Given the description of an element on the screen output the (x, y) to click on. 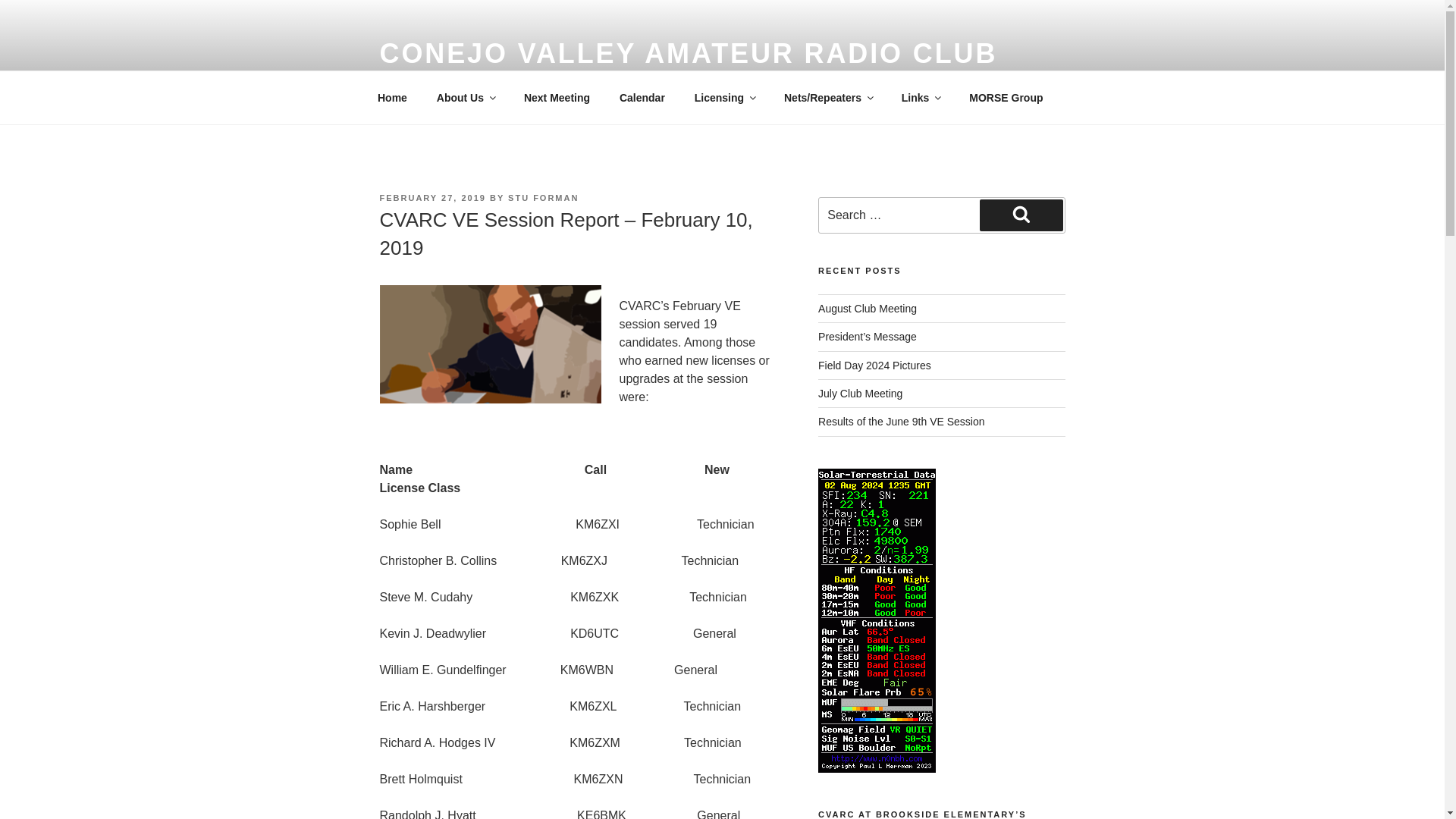
Home (392, 97)
Calendar (641, 97)
Next Meeting (556, 97)
Links (920, 97)
About Us (464, 97)
Licensing (724, 97)
August Club Meeting (867, 308)
STU FORMAN (543, 197)
MORSE Group (1006, 97)
FEBRUARY 27, 2019 (431, 197)
